Given the description of an element on the screen output the (x, y) to click on. 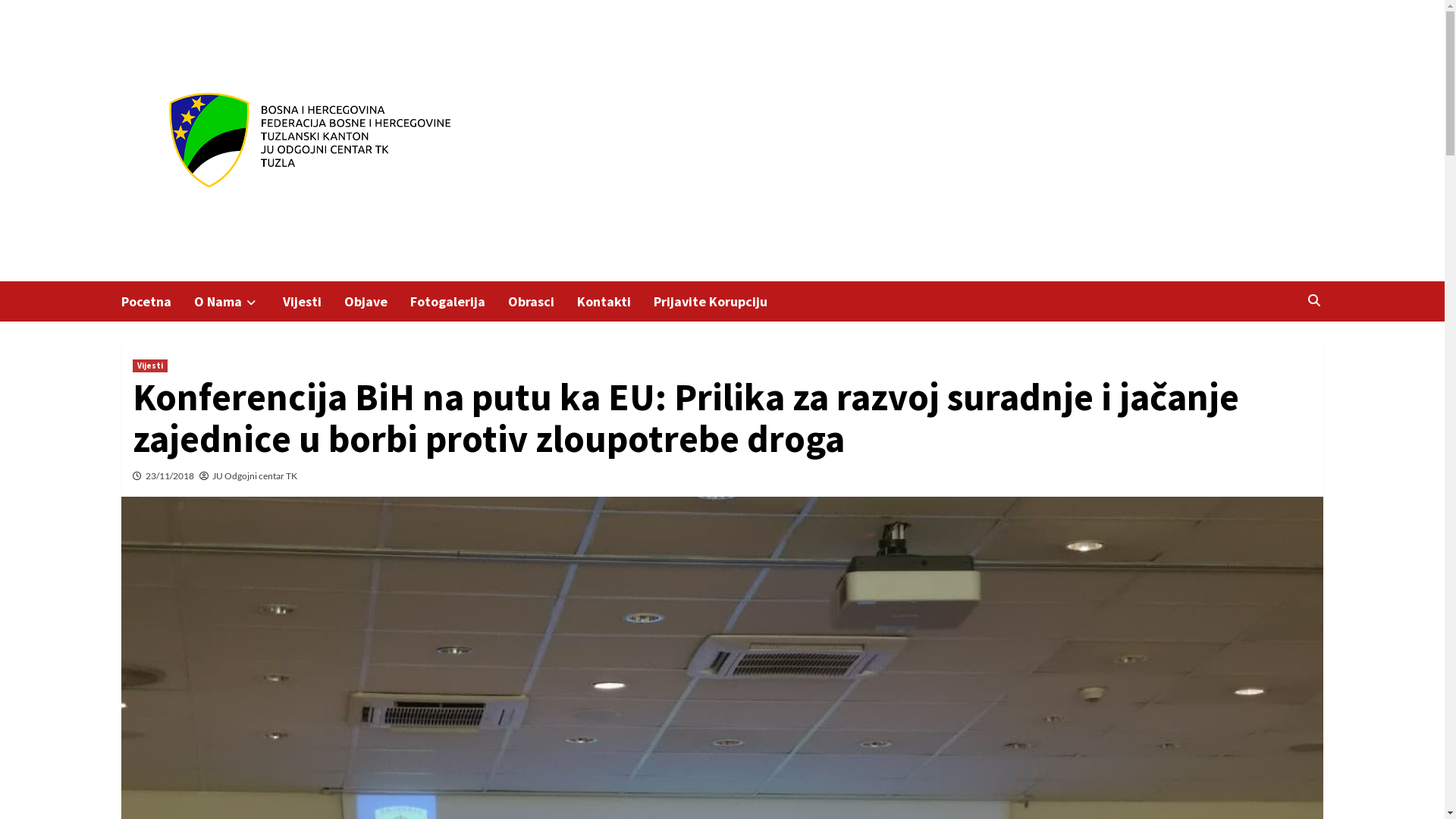
Kontakti Element type: text (615, 301)
O Nama Element type: text (238, 301)
Obrasci Element type: text (542, 301)
JU Odgojni centar TK Element type: text (254, 475)
Vijesti Element type: text (149, 365)
Objave Element type: text (377, 301)
Vijesti Element type: text (313, 301)
Search Element type: hover (1313, 299)
Pocetna Element type: text (157, 301)
Prijavite Korupciju Element type: text (721, 301)
Fotogalerija Element type: text (459, 301)
23/11/2018 Element type: text (169, 475)
